Given the description of an element on the screen output the (x, y) to click on. 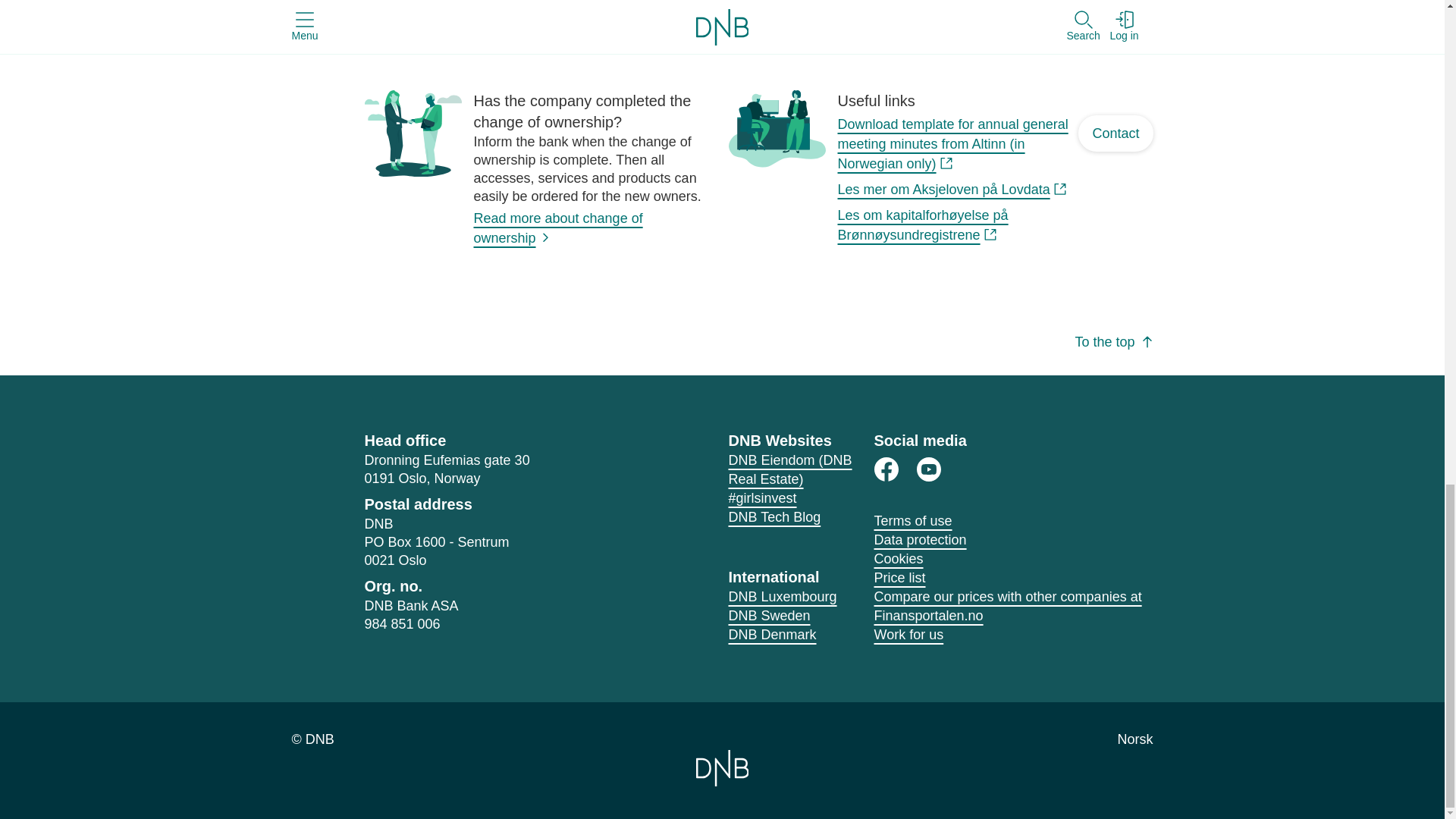
Opens a new window (789, 469)
Facebook (885, 469)
Opens a new window (885, 469)
Opens a new window (952, 143)
Opens a new window (927, 469)
Opens a new window (762, 497)
Opens a new window (952, 189)
Opens a new window (774, 516)
YouTube (927, 469)
Read more about change of ownership (557, 227)
